Given the description of an element on the screen output the (x, y) to click on. 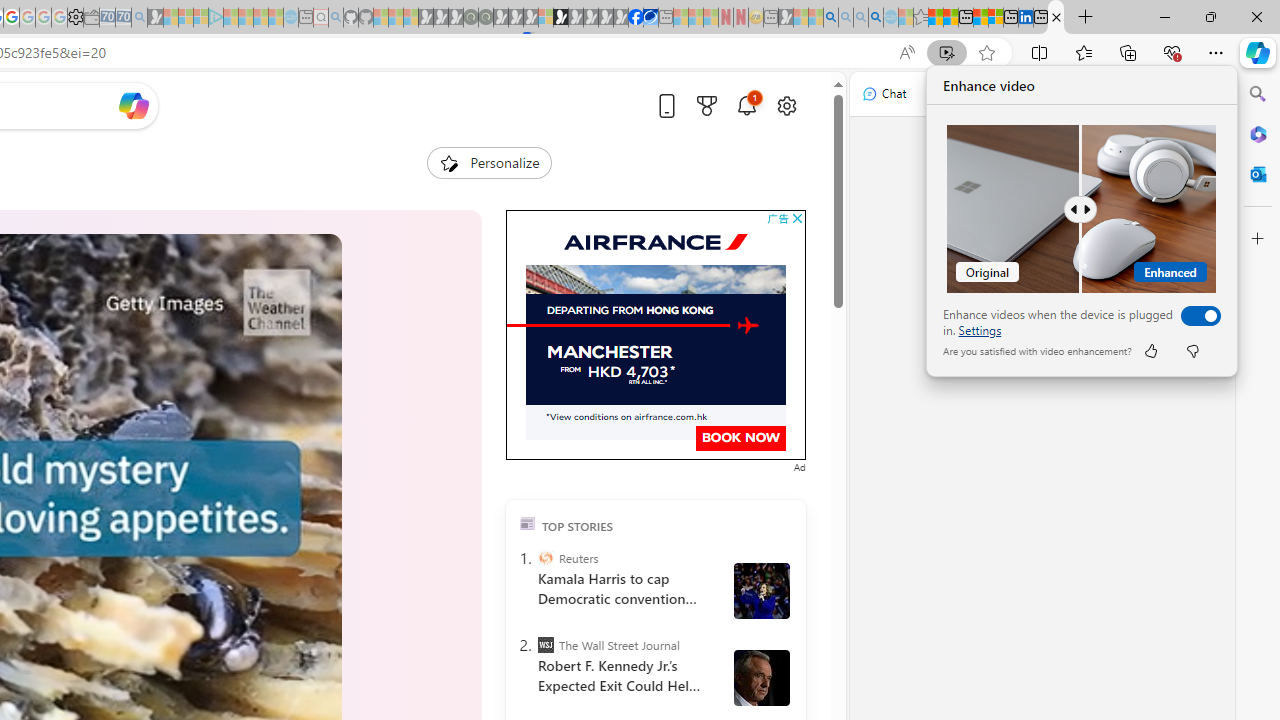
dislike (1192, 350)
Microsoft rewards (707, 105)
Like (1150, 350)
Wallet - Sleeping (91, 17)
Personalize (488, 162)
Notifications (746, 105)
github - Search - Sleeping (336, 17)
